Given the description of an element on the screen output the (x, y) to click on. 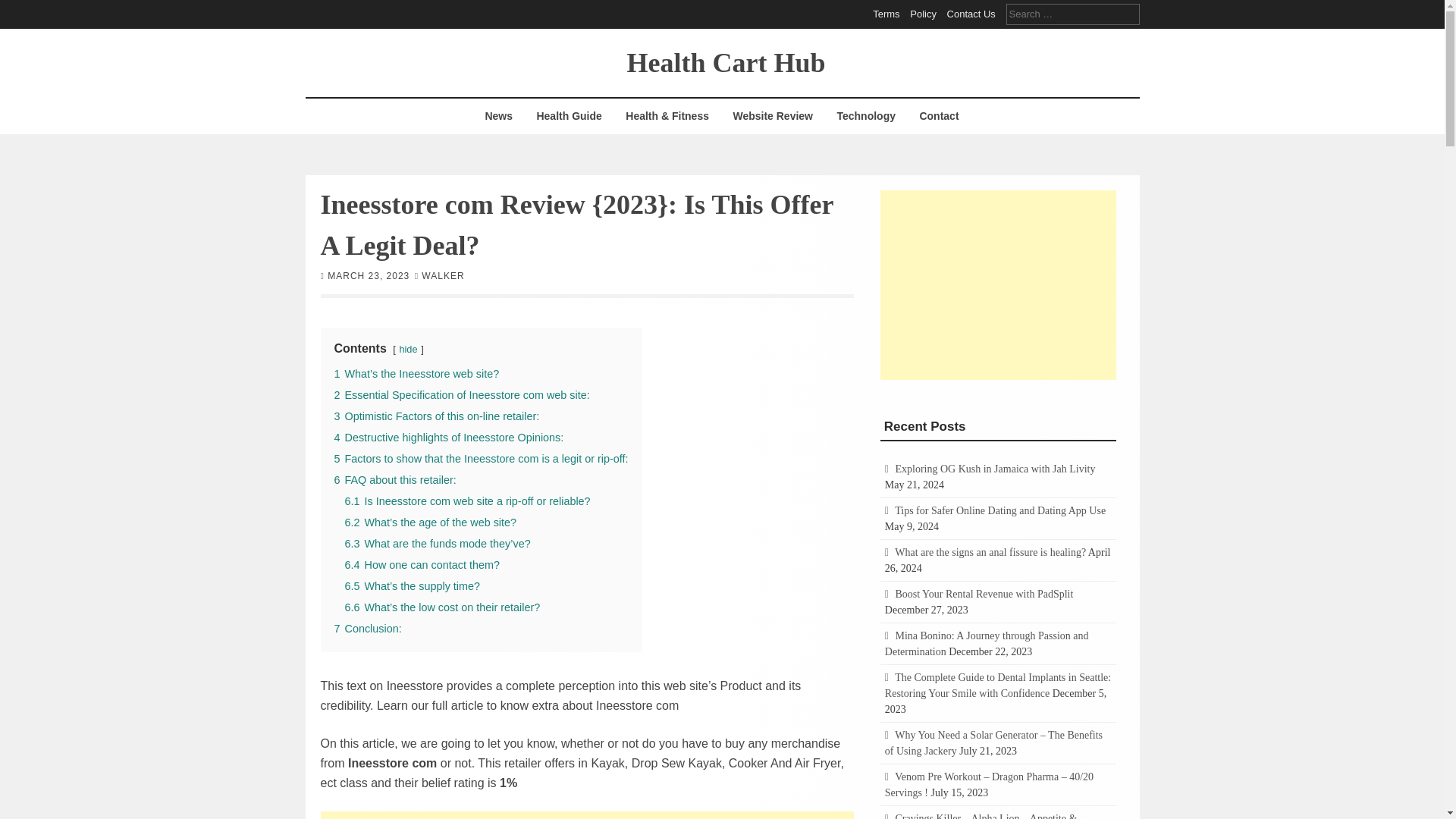
4 Destructive highlights of Ineesstore Opinions: (448, 436)
Terms (885, 13)
WALKER (443, 275)
hide (407, 348)
6 FAQ about this retailer: (394, 479)
Technology (866, 116)
Health Cart Hub (725, 61)
Search (23, 9)
3 Optimistic Factors of this on-line retailer: (435, 415)
Boost Your Rental Revenue with PadSplit (984, 593)
Health Guide (568, 116)
News (498, 116)
Policy (923, 13)
What are the signs an anal fissure is healing? (990, 552)
